Given the description of an element on the screen output the (x, y) to click on. 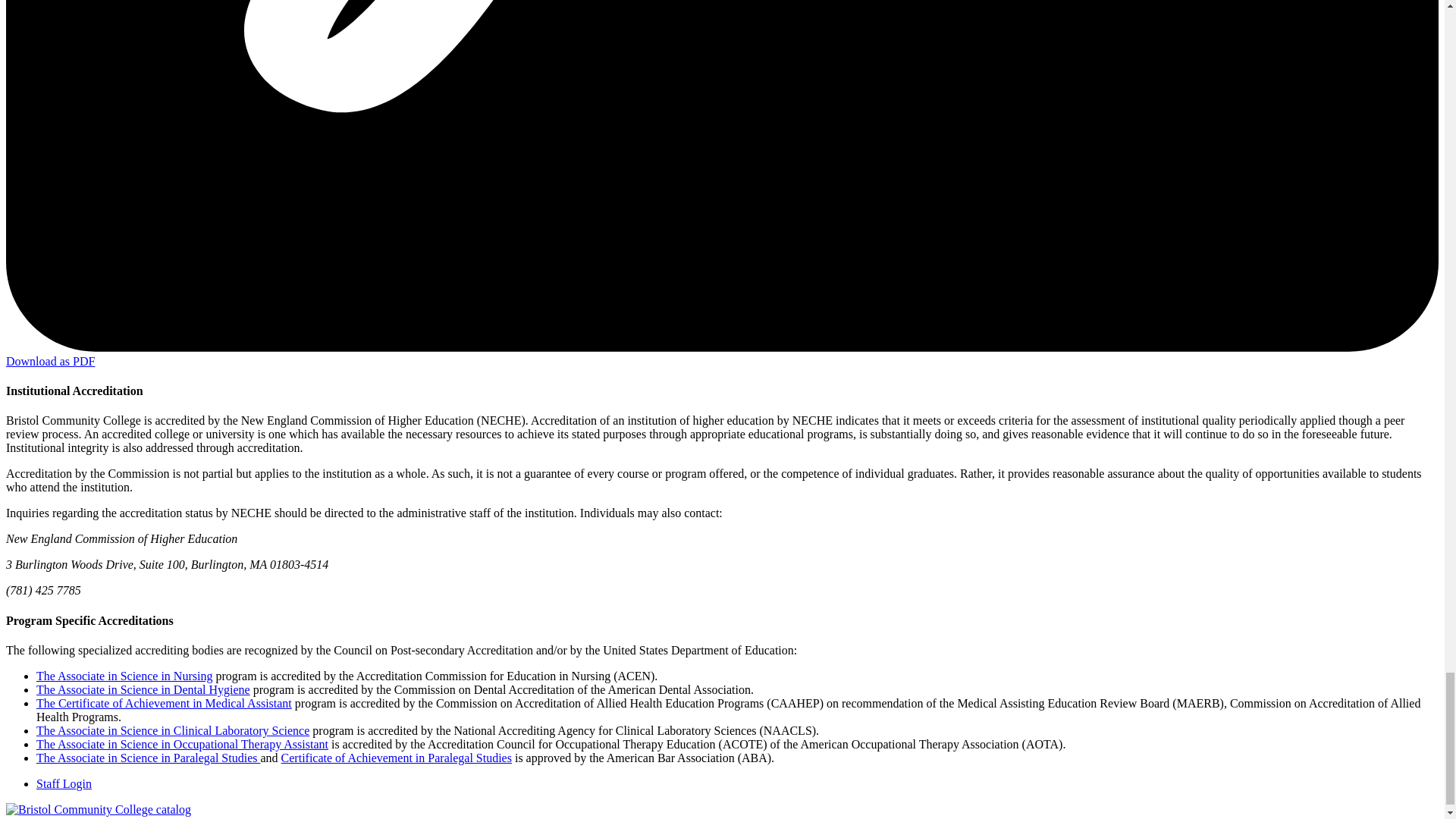
The Associate in Science in Paralegal Studies (148, 757)
Download as PDF (49, 360)
The Certificate of Achievement in Medical Assistant (164, 703)
Staff Login (63, 783)
The Associate in Science in Occupational Therapy Assistant (182, 744)
Certificate of Achievement in Paralegal Studies (396, 757)
The Associate in Science in Clinical Laboratory Science (172, 730)
The Associate in Science in Nursing (124, 675)
The Associate in Science in Dental Hygiene (143, 689)
